Given the description of an element on the screen output the (x, y) to click on. 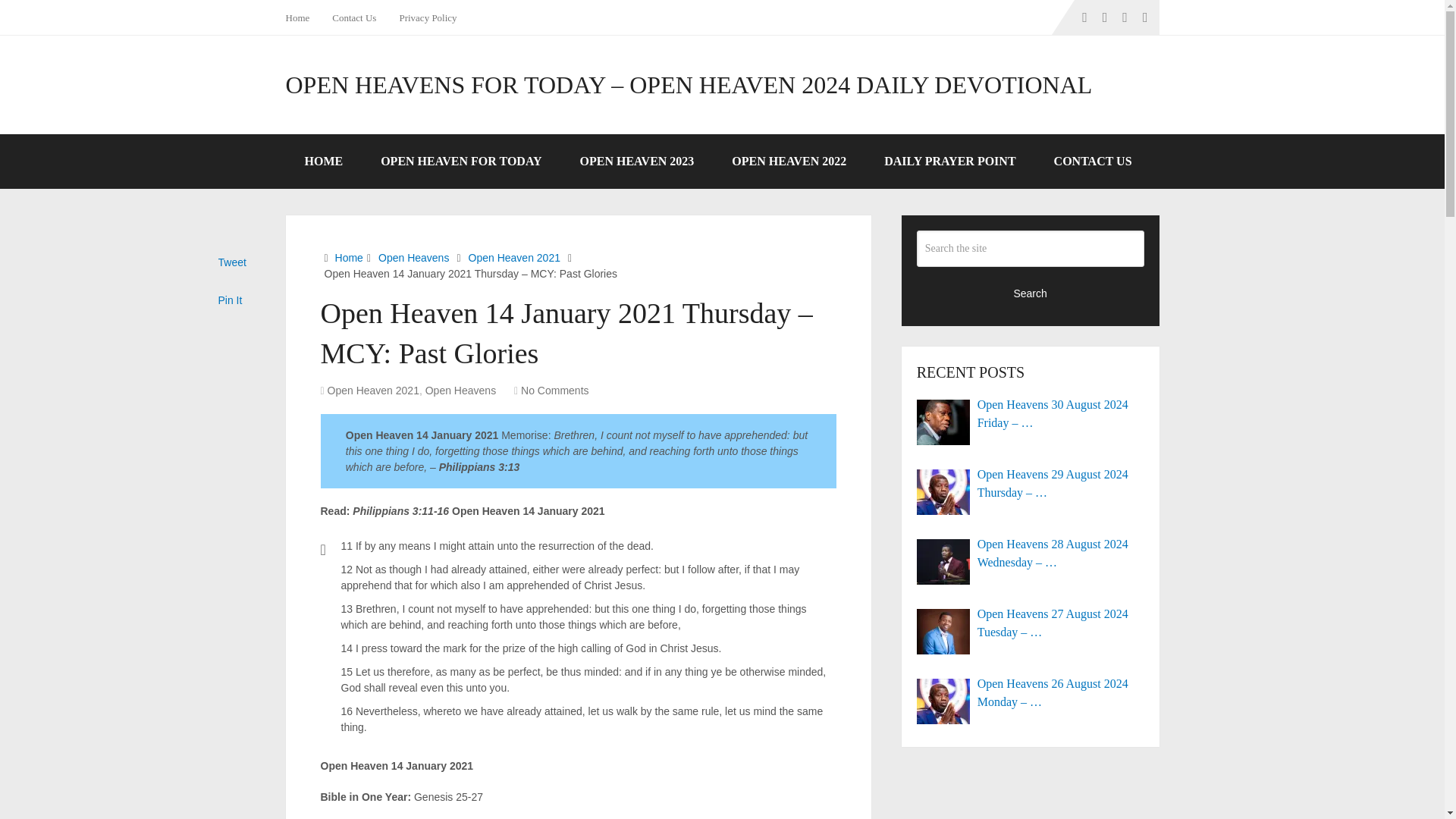
Open Heavens (413, 257)
OPEN HEAVEN FOR TODAY (460, 161)
Home (302, 17)
OPEN HEAVEN 2022 (788, 161)
OPEN HEAVEN 2023 (636, 161)
Contact Us (353, 17)
View all posts in Open Heaven 2021 (373, 390)
Open Heavens (460, 390)
CONTACT US (1093, 161)
Open Heaven 2021 (514, 257)
